Given the description of an element on the screen output the (x, y) to click on. 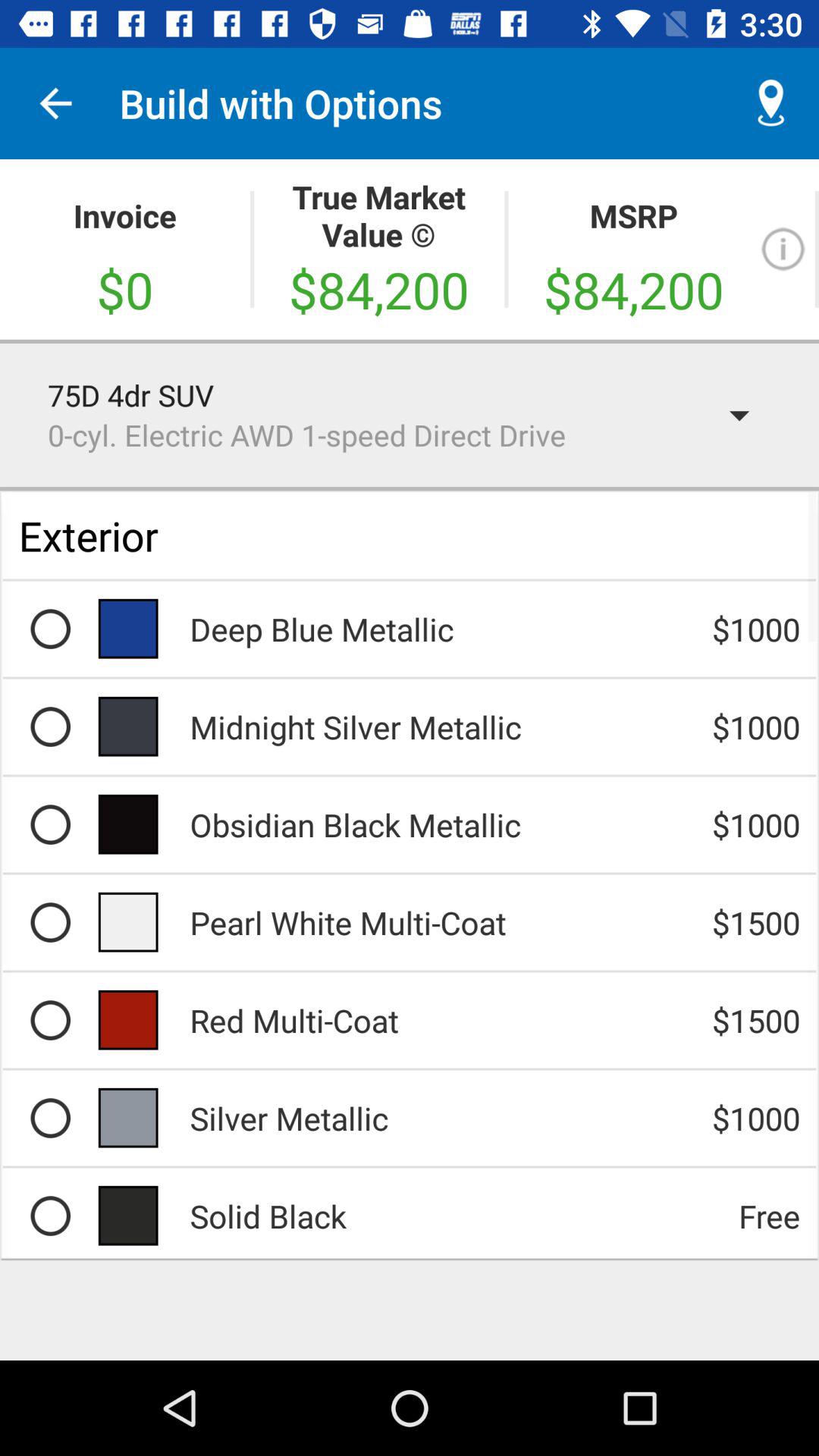
choose midnight silver metallic (50, 726)
